Given the description of an element on the screen output the (x, y) to click on. 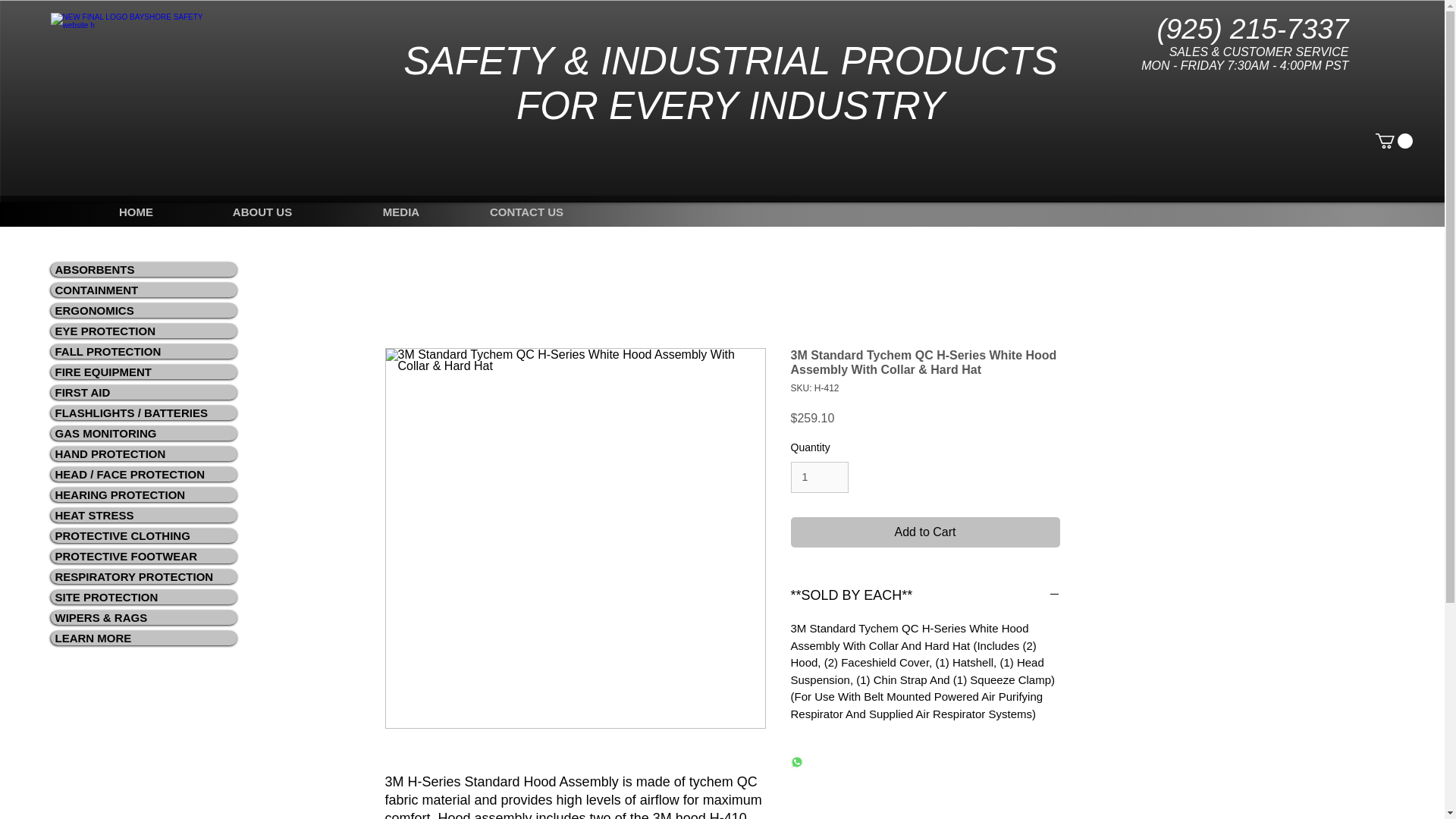
ERGONOMICS (142, 310)
Add to Cart (924, 531)
ABSORBENTS (142, 269)
HOME (135, 212)
CONTAINMENT (142, 289)
1 (818, 477)
ABOUT US (262, 212)
CONTACT US (526, 212)
EYE PROTECTION (142, 330)
MEDIA (400, 212)
